Given the description of an element on the screen output the (x, y) to click on. 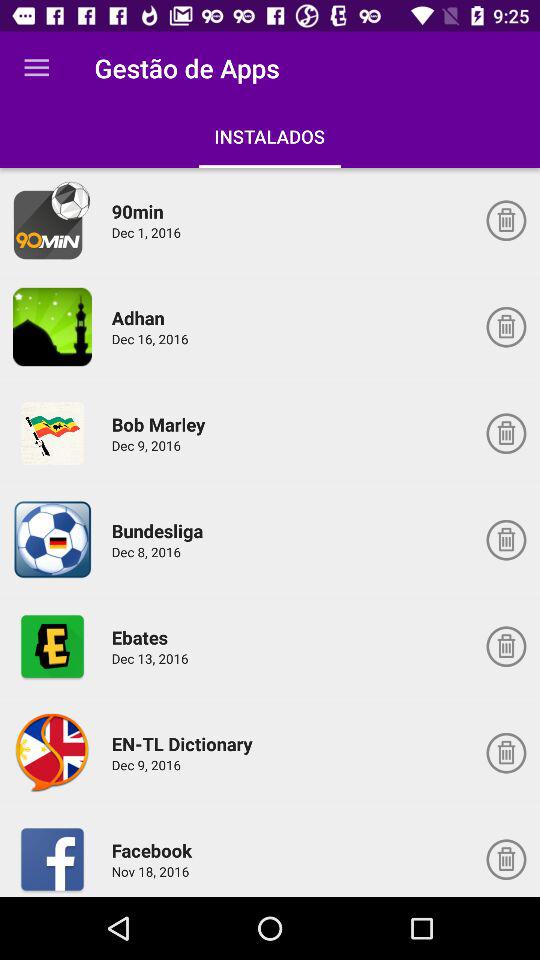
delete (505, 220)
